Given the description of an element on the screen output the (x, y) to click on. 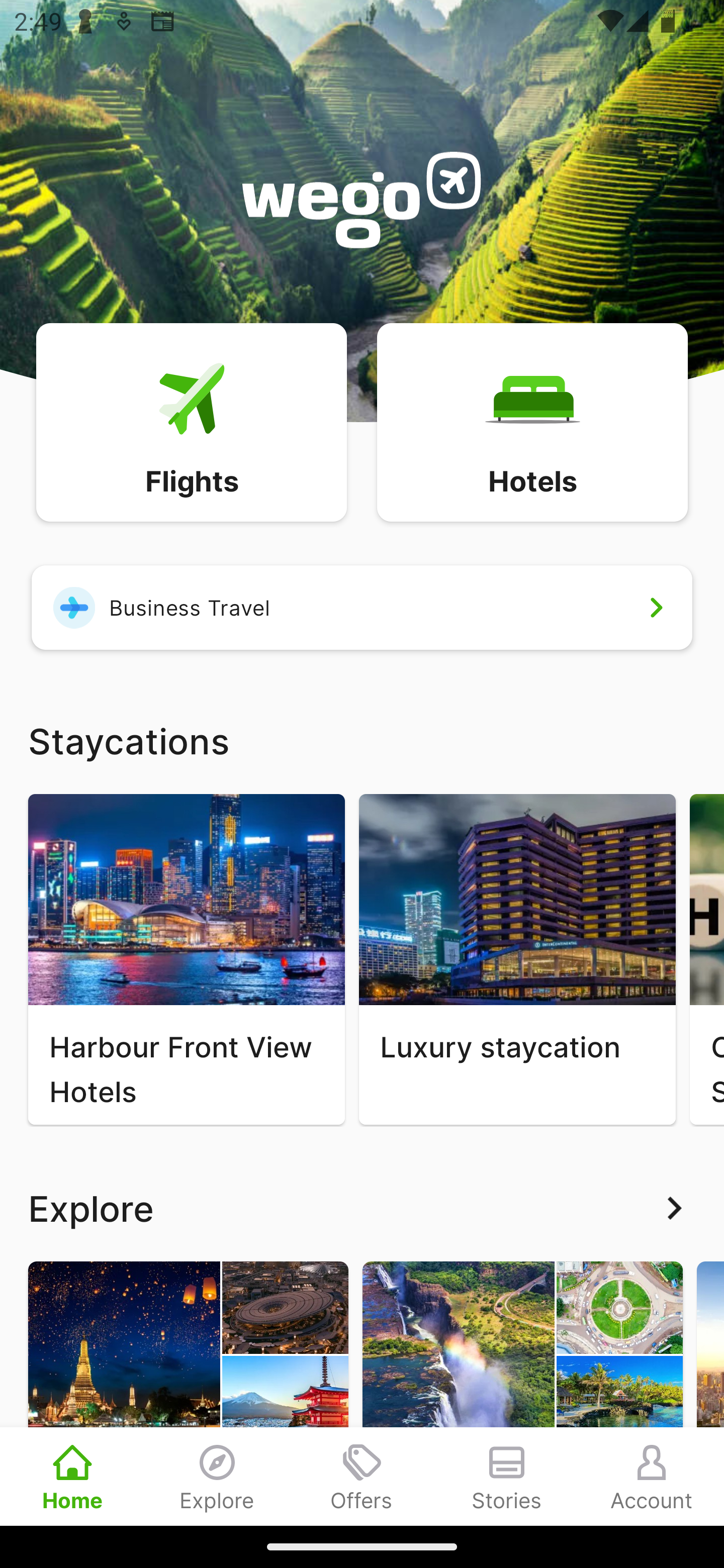
Flights (191, 420)
Hotels (532, 420)
Business Travel (361, 607)
Staycations (362, 739)
Harbour Front View Hotels (186, 958)
Luxury staycation (517, 958)
Explore (362, 1207)
Popular Destinations (188, 1392)
Visa-free Countries (522, 1392)
Explore (216, 1475)
Offers (361, 1475)
Stories (506, 1475)
Account (651, 1475)
